Given the description of an element on the screen output the (x, y) to click on. 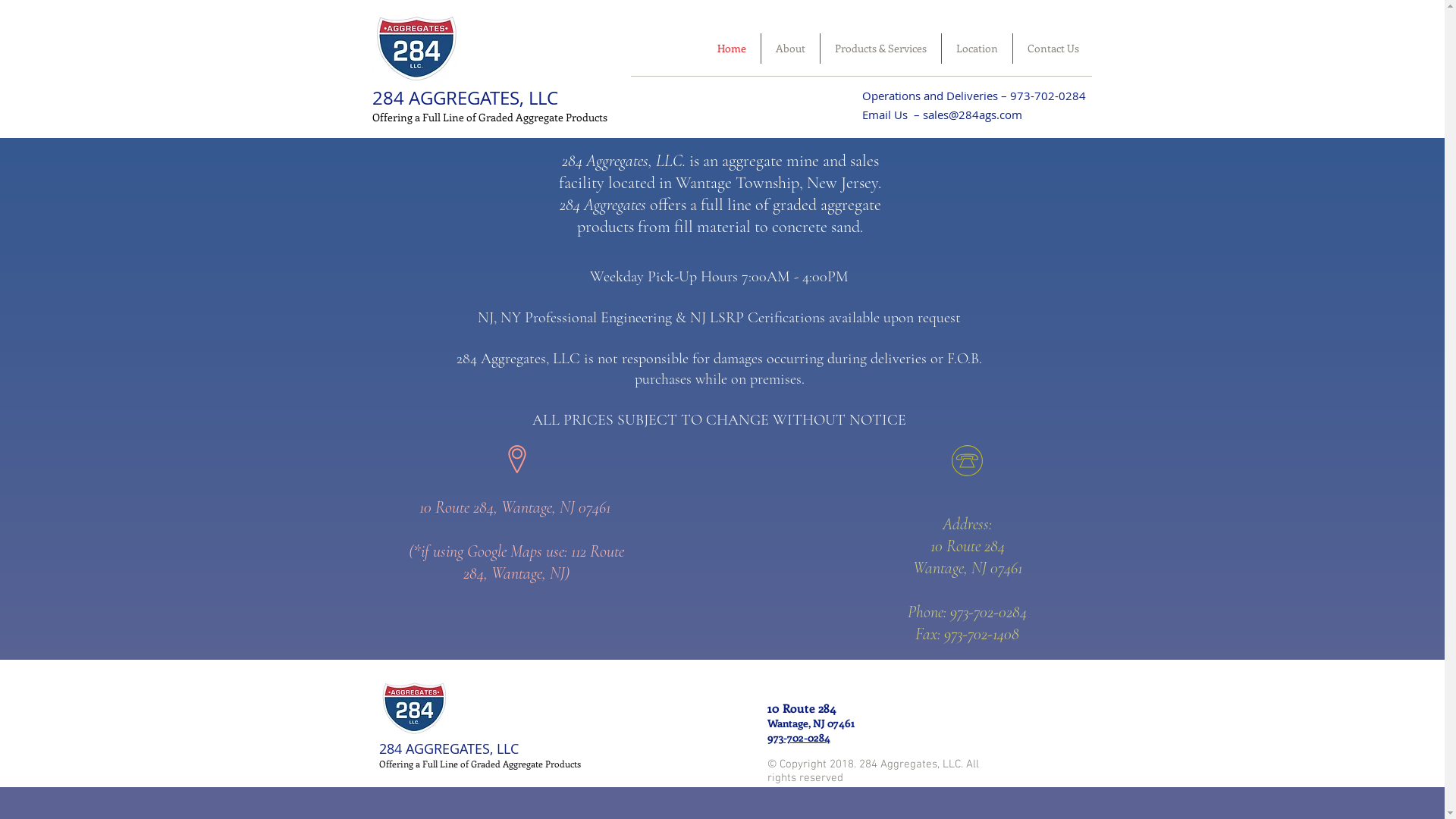
Location Element type: text (976, 48)
Contact Us Element type: text (1053, 48)
About Element type: text (790, 48)
284 AGGREGATES, LLC Element type: text (464, 97)
973-702-0284 Element type: text (798, 737)
Home Element type: text (730, 48)
Offering a Full Line of Graded Aggregate Products Element type: text (488, 116)
Products & Services Element type: text (880, 48)
